Given the description of an element on the screen output the (x, y) to click on. 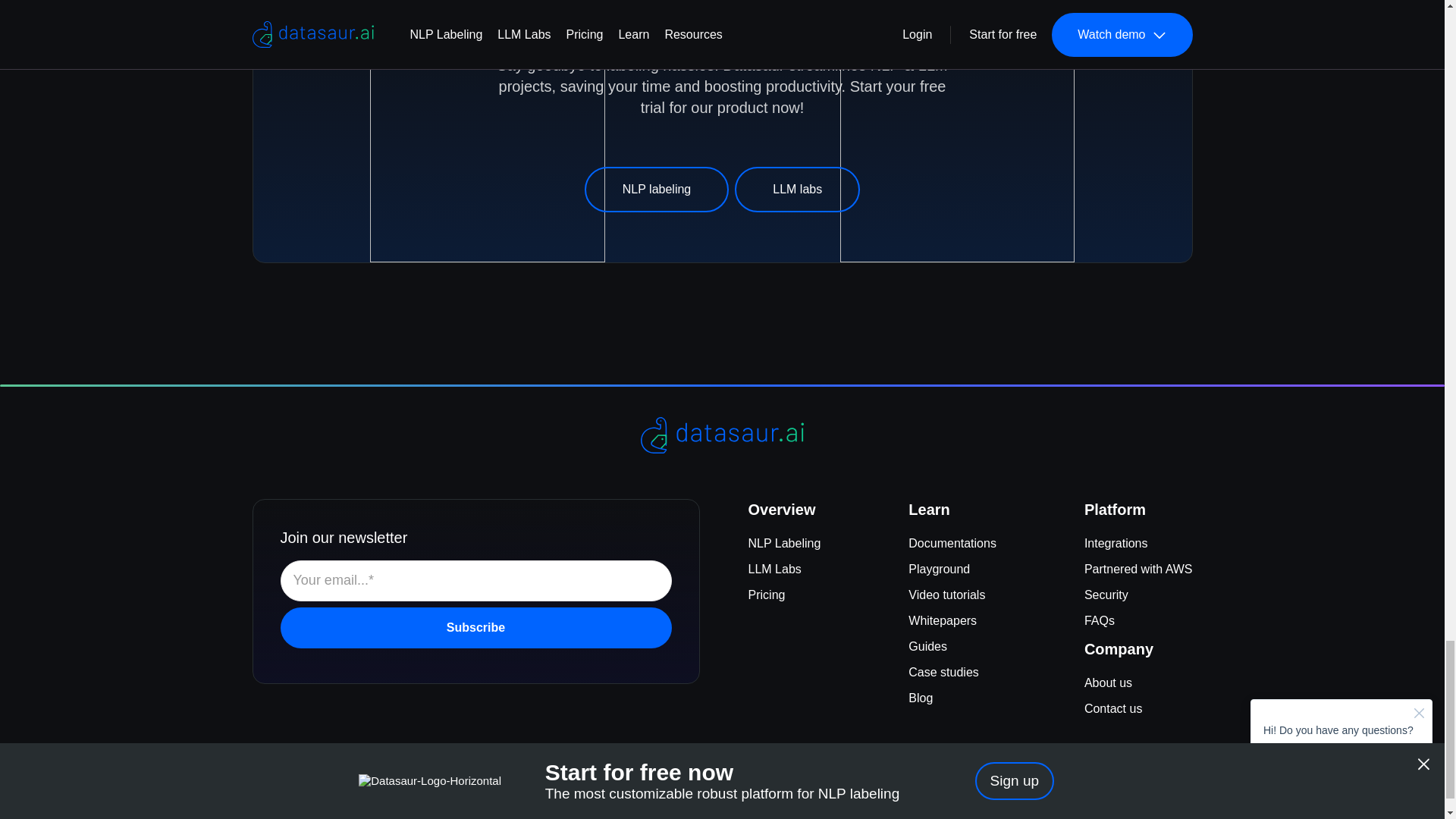
Subscribe (476, 627)
